Given the description of an element on the screen output the (x, y) to click on. 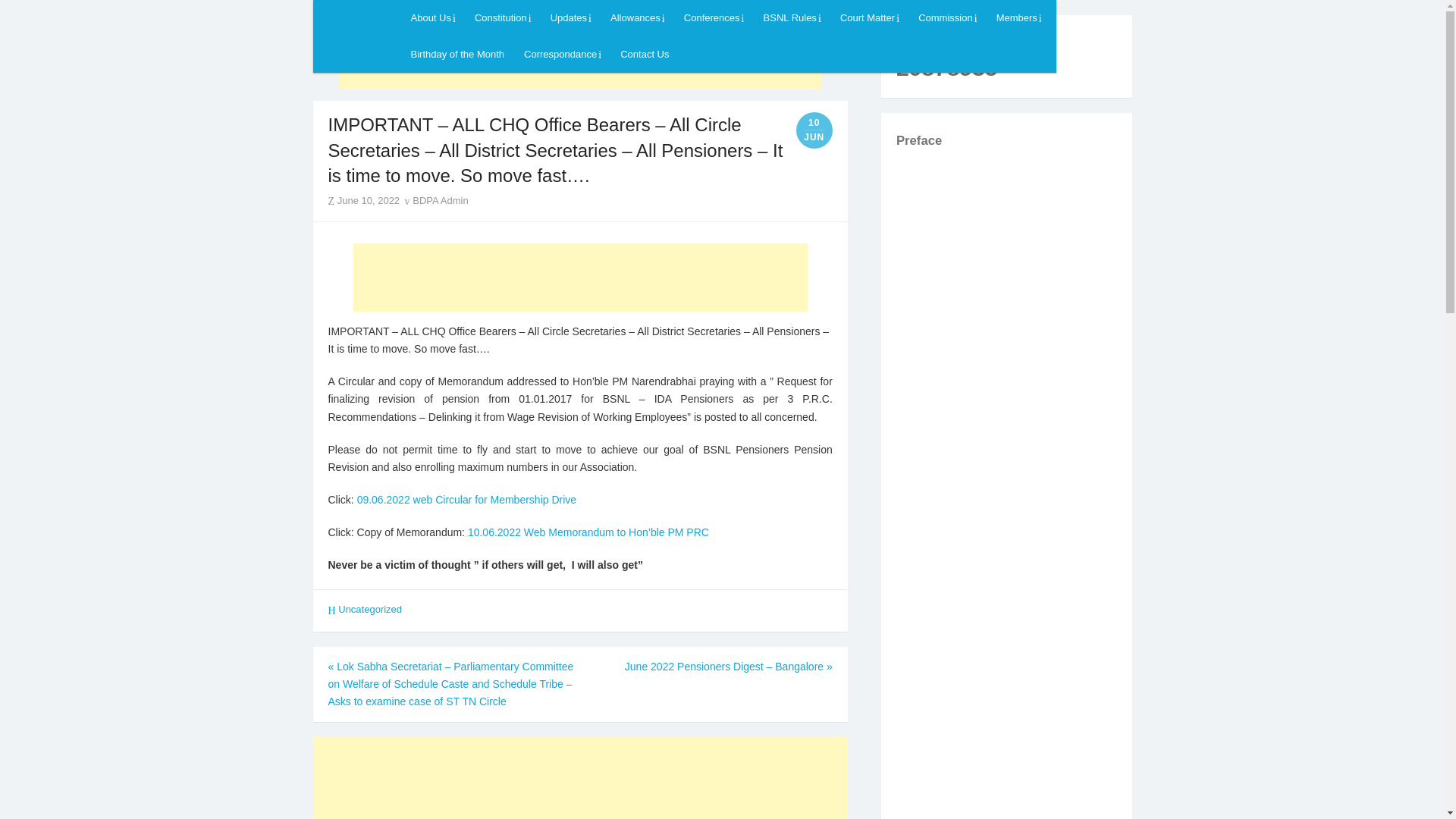
Members (1019, 18)
BSNL Rules (791, 18)
Court Matter (868, 18)
Advertisement (580, 277)
Conferences (714, 18)
Advertisement (580, 55)
About Us (432, 18)
Allowances (636, 18)
Advertisement (580, 778)
Constitution (502, 18)
